Given the description of an element on the screen output the (x, y) to click on. 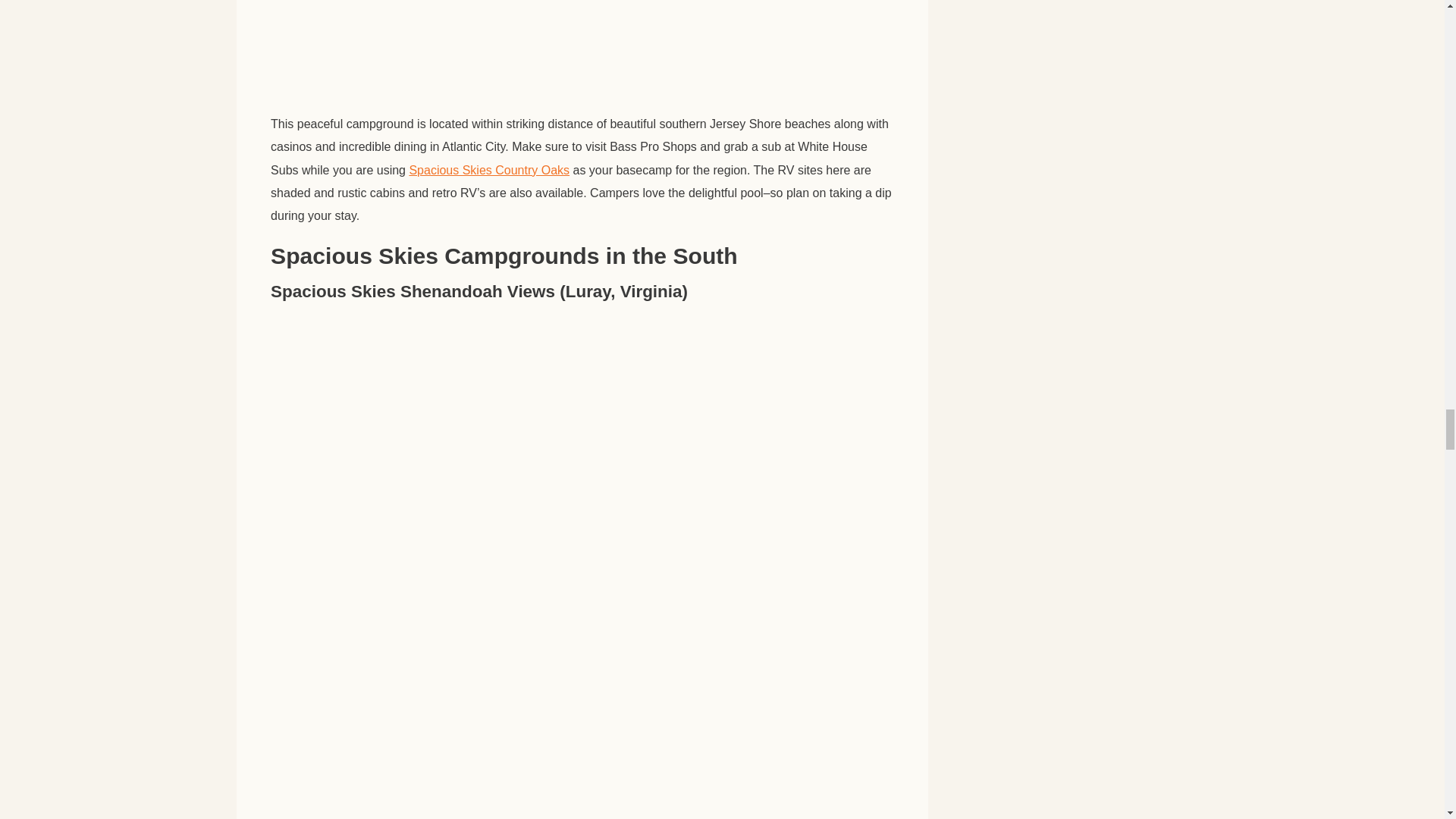
Spacious Skies Country Oaks (489, 169)
